Given the description of an element on the screen output the (x, y) to click on. 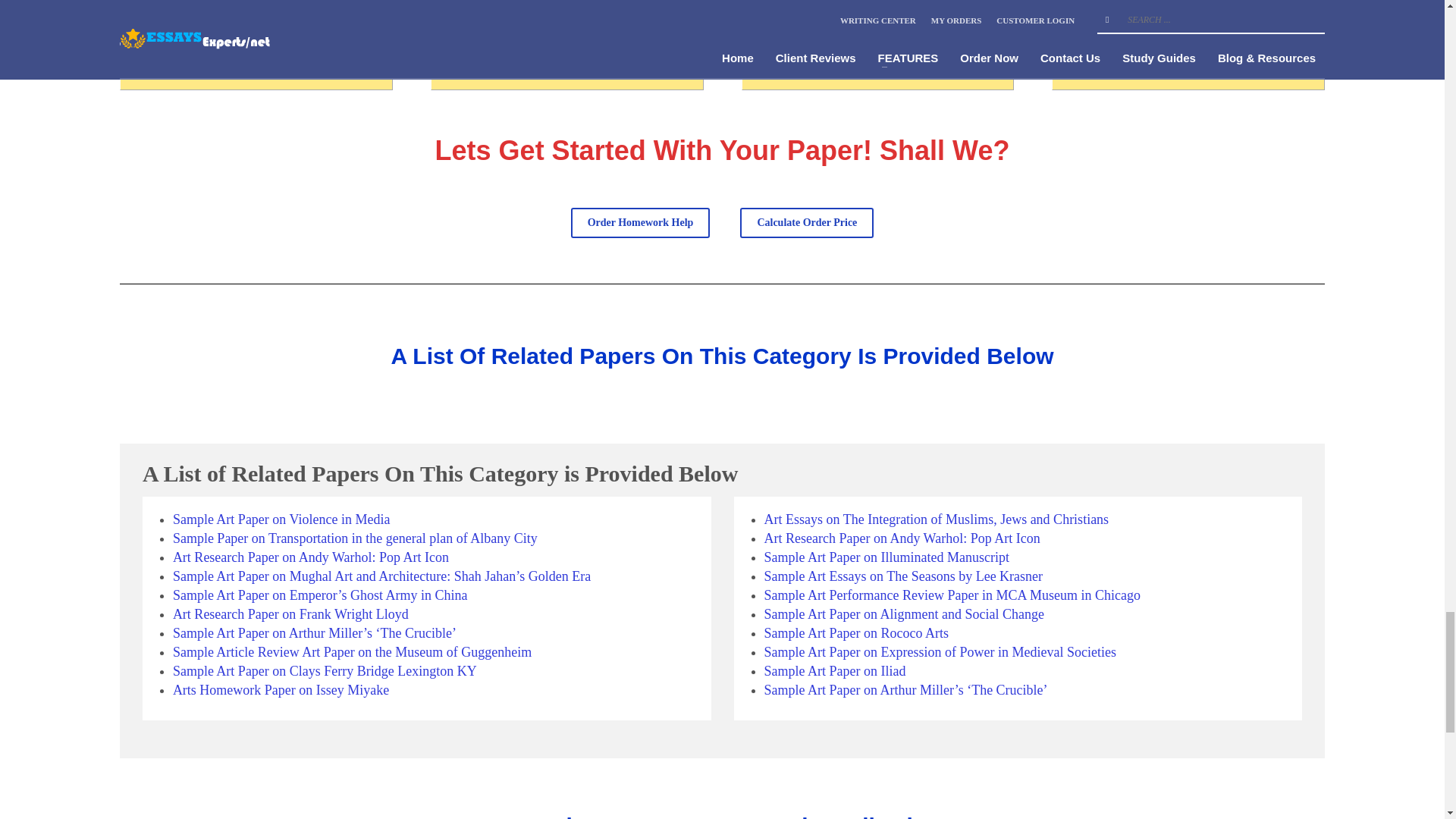
Sample Art Paper on Violence in Media (281, 519)
Order Homework Help (640, 223)
Sample Article Review Art Paper on the Museum of Guggenheim (352, 652)
Sample Art Paper on Clays Ferry Bridge Lexington KY (325, 670)
Arts Homework Paper on Issey Miyake (280, 689)
Art Research Paper on Frank Wright Lloyd (291, 613)
Calculate Order Price (806, 223)
Art Research Paper on Andy Warhol: Pop Art Icon (310, 557)
